Given the description of an element on the screen output the (x, y) to click on. 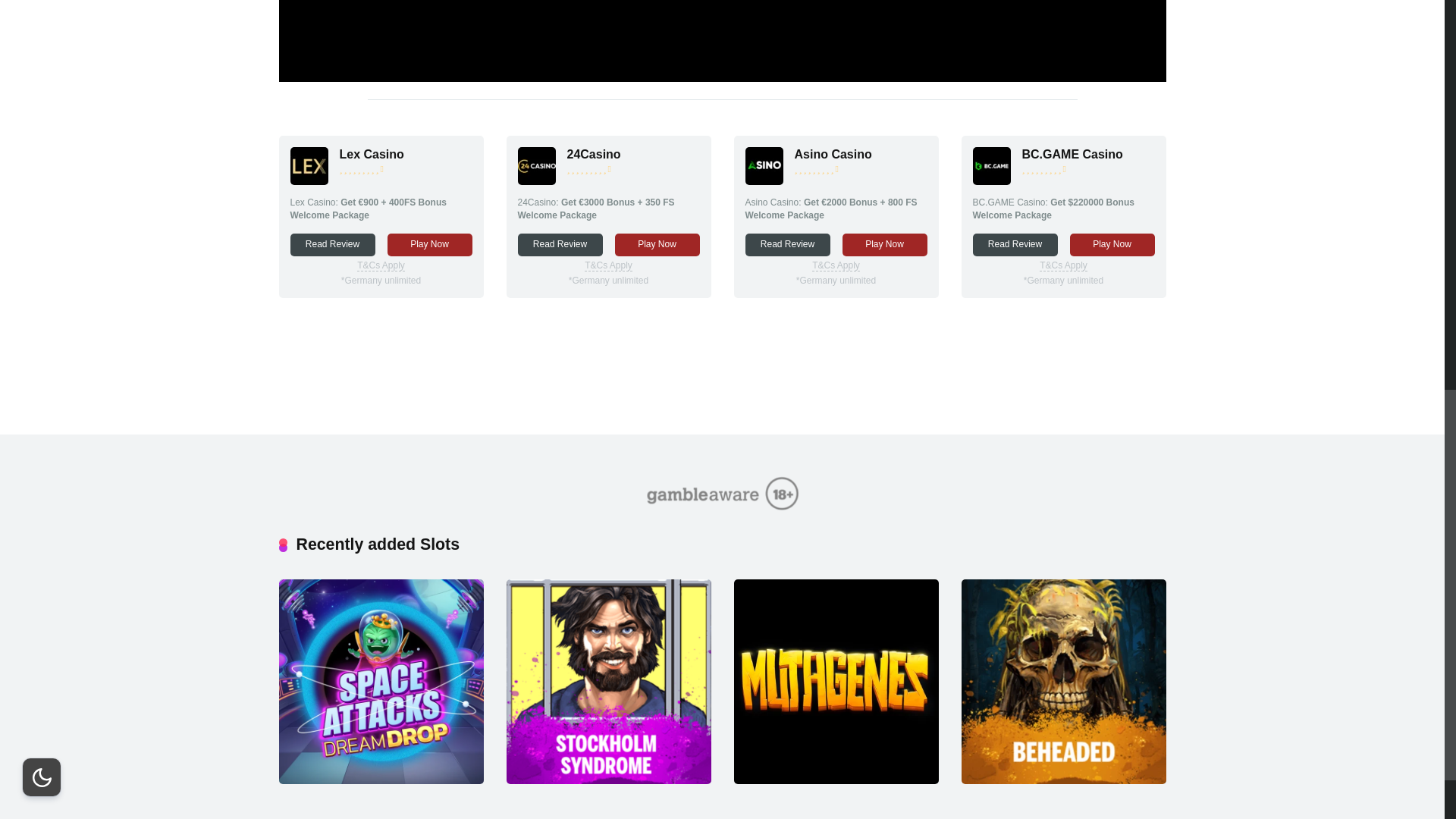
Play Now (656, 244)
Play Now (883, 244)
Play Now (1111, 244)
Read Review (331, 244)
Play Now (429, 244)
Read Review (786, 244)
Lex Casino (371, 154)
Read Review (559, 244)
Read Review (1014, 244)
Lex Casino (308, 180)
